Given the description of an element on the screen output the (x, y) to click on. 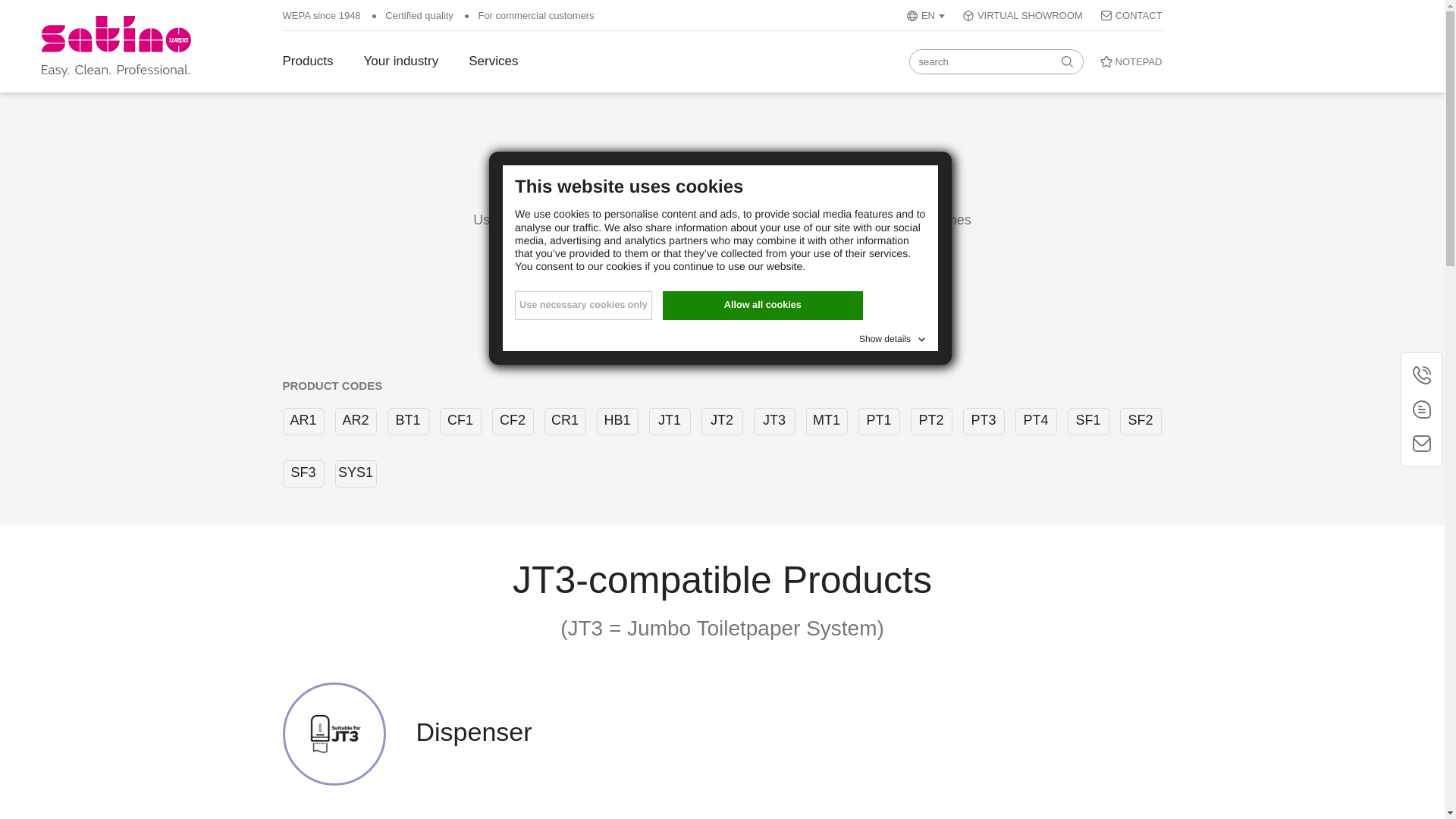
Allow all cookies (762, 305)
Use necessary cookies only (583, 305)
Show details (893, 334)
